Given the description of an element on the screen output the (x, y) to click on. 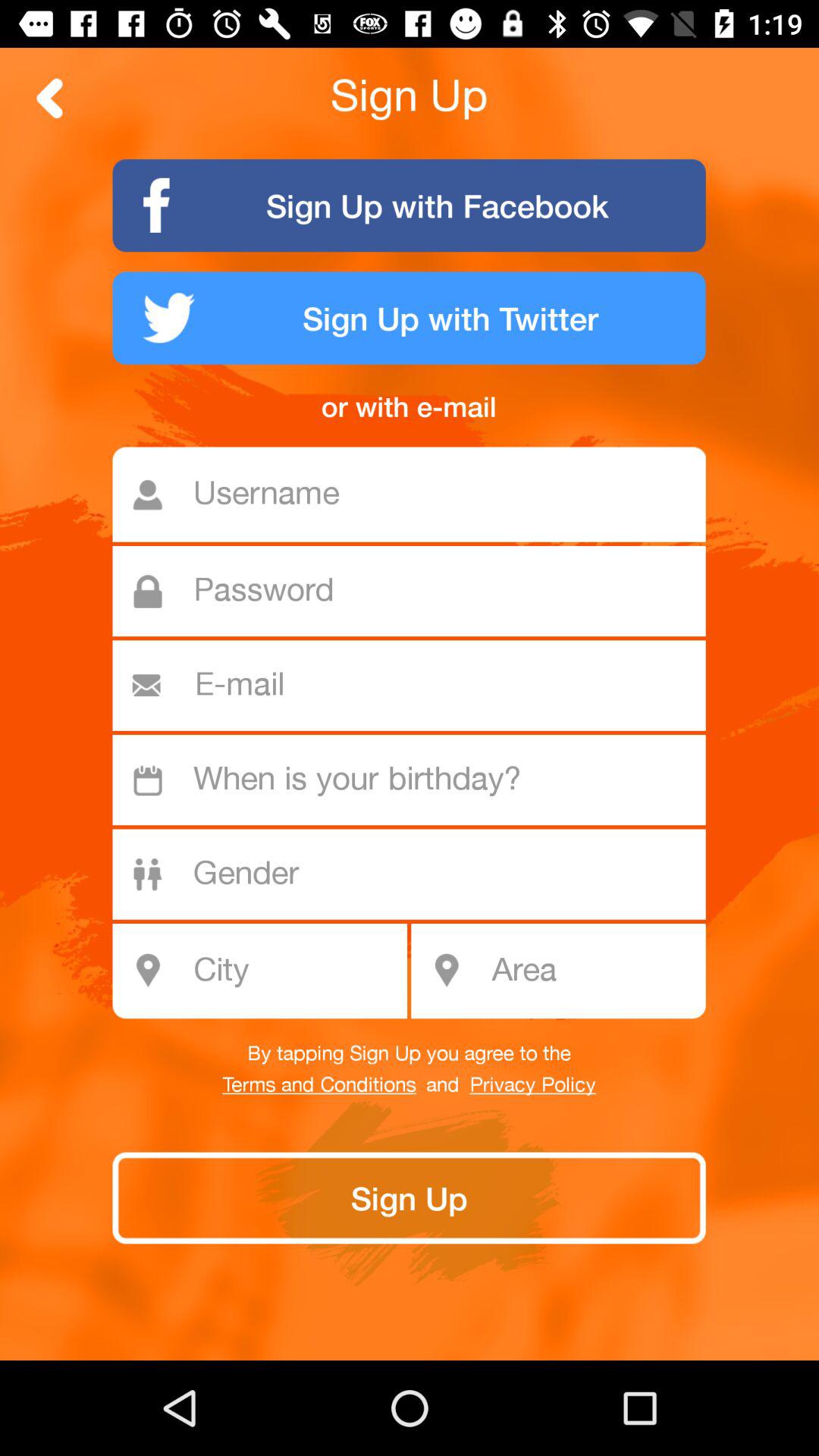
enter your e-mail (416, 685)
